Given the description of an element on the screen output the (x, y) to click on. 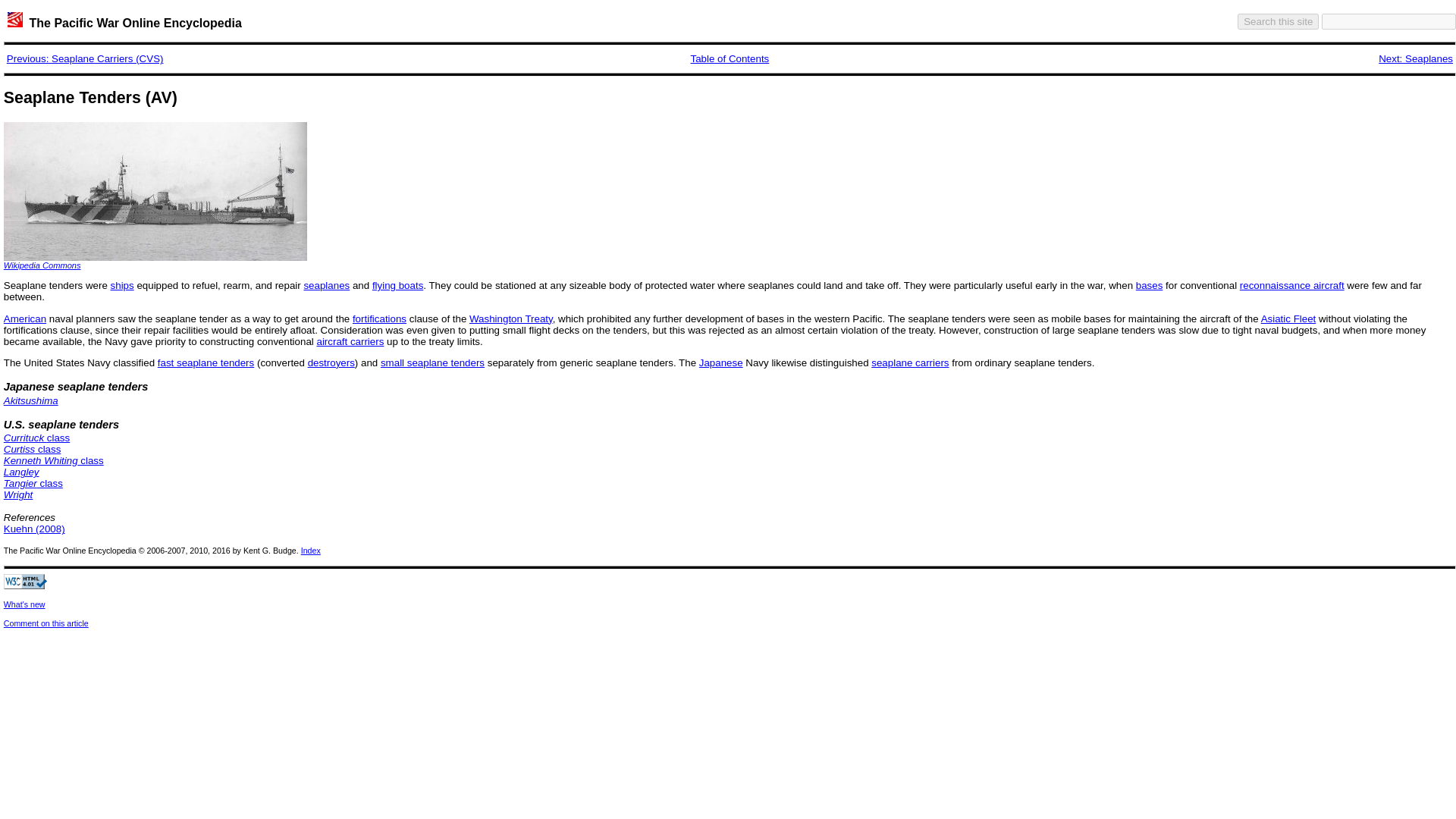
Comment on this article (46, 623)
Index (310, 550)
Washington Treaty (510, 318)
Japanese (720, 362)
fast seaplane tenders (205, 362)
Tangier class (33, 482)
What's new (24, 604)
fortifications (379, 318)
flying boats (397, 285)
Currituck class (36, 437)
Asiatic Fleet (1288, 318)
ships (121, 285)
aircraft carriers (349, 341)
Akitsushima (31, 400)
Search this site (1278, 21)
